Given the description of an element on the screen output the (x, y) to click on. 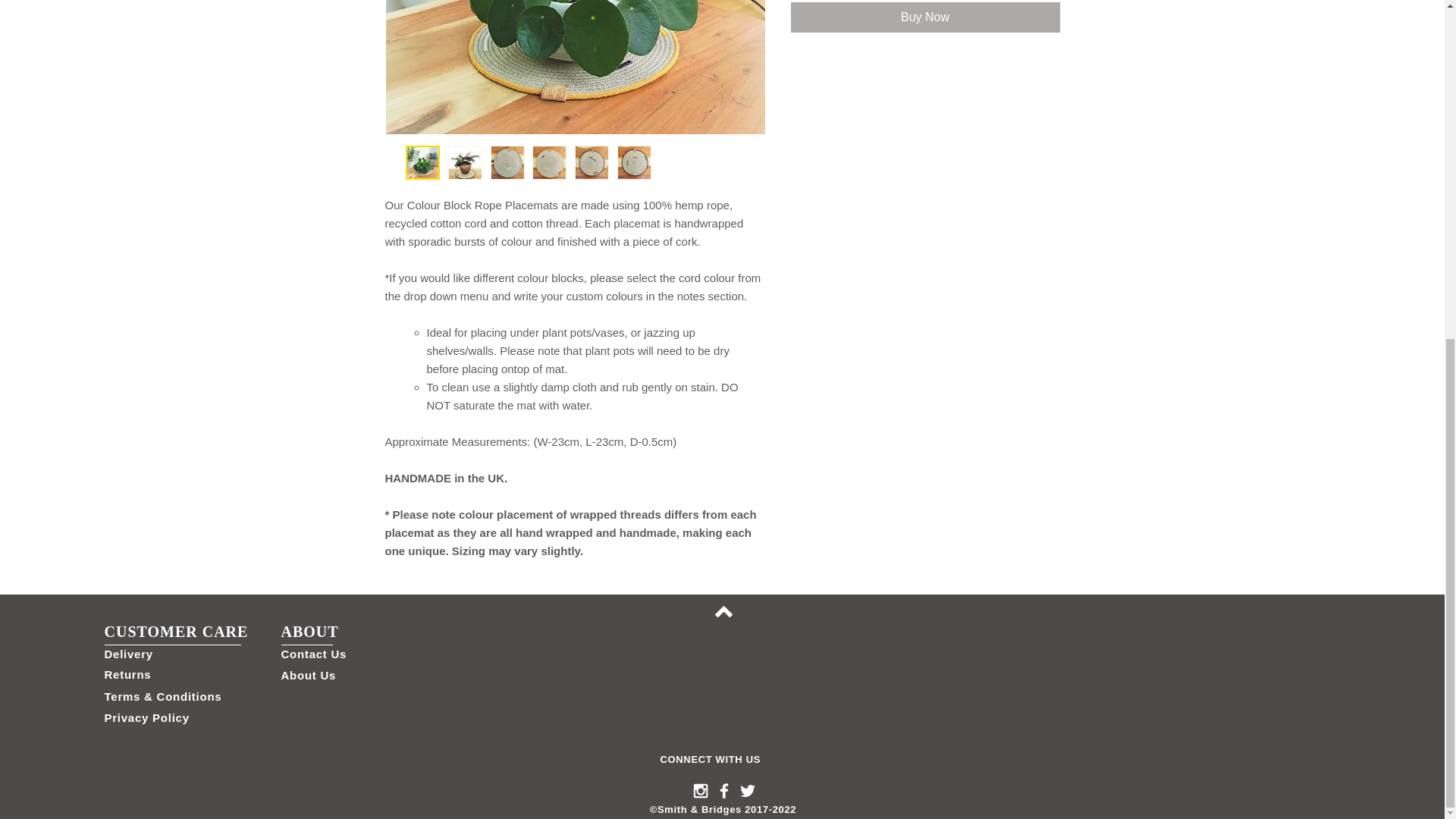
Contact Us (313, 654)
Buy Now (924, 17)
Privacy Policy (146, 717)
Returns (127, 674)
Delivery (128, 653)
About Us (308, 675)
